Given the description of an element on the screen output the (x, y) to click on. 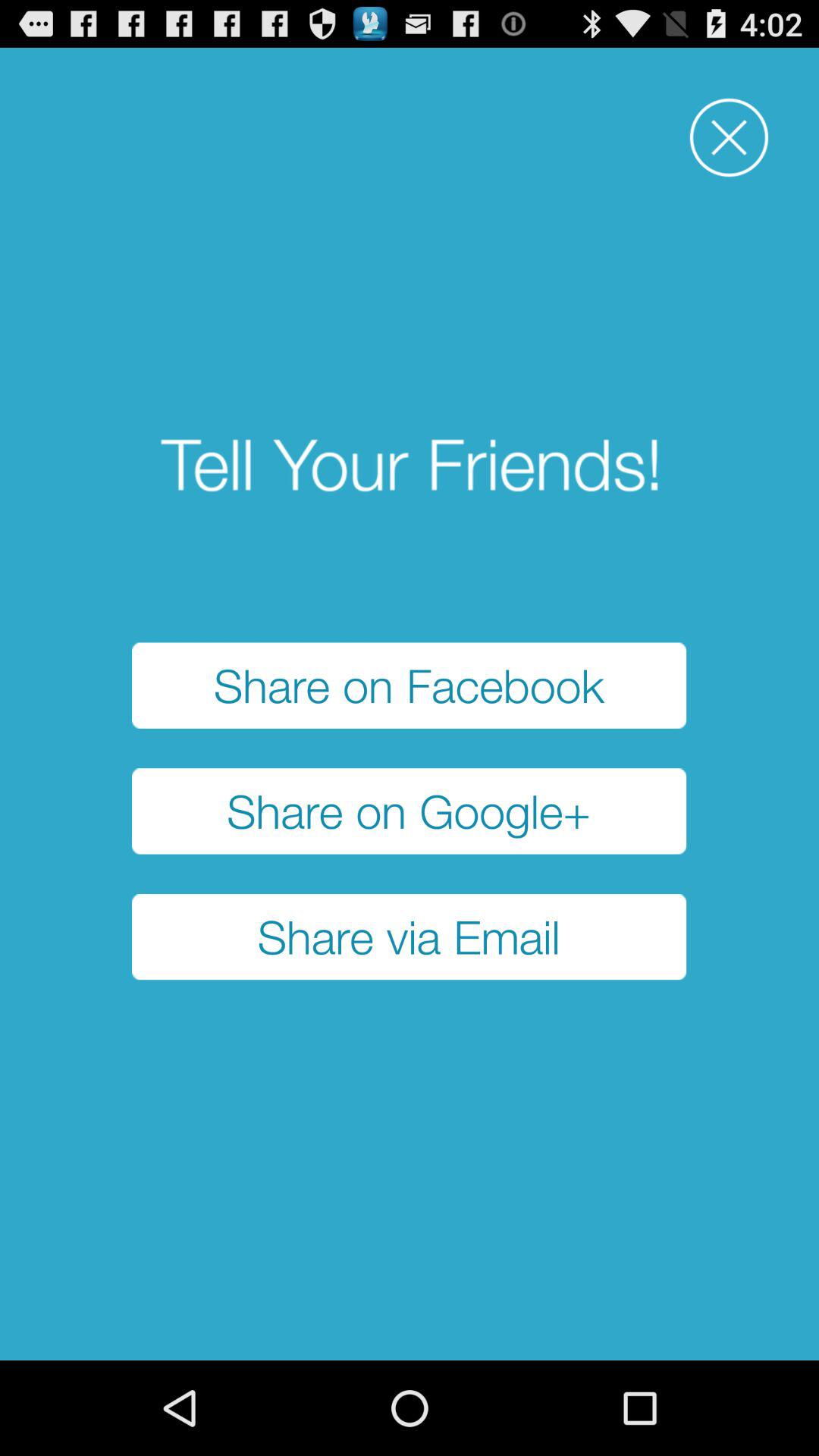
flip until the share via email button (408, 936)
